Given the description of an element on the screen output the (x, y) to click on. 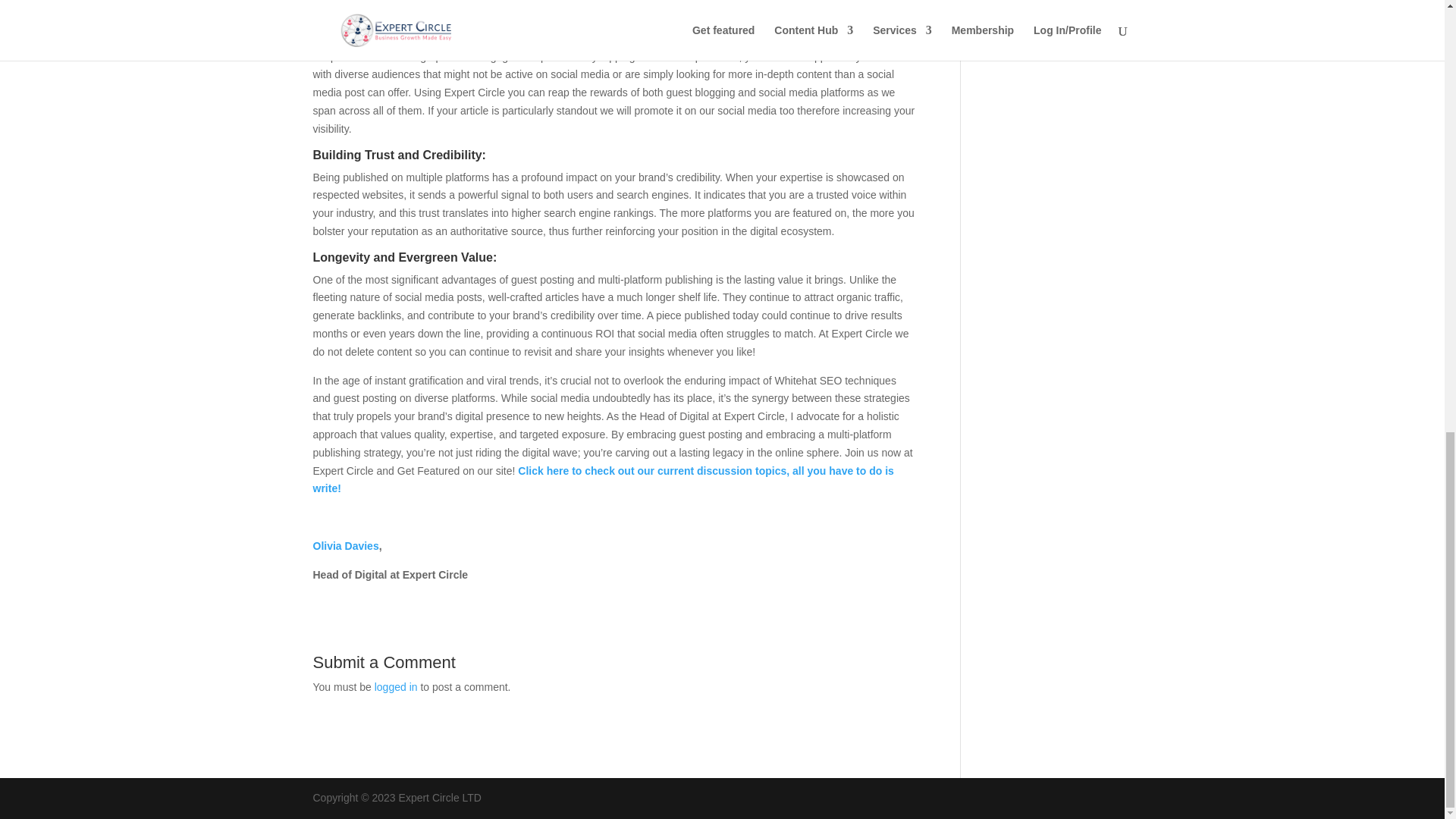
logged in (395, 686)
Olivia Davies (345, 545)
